Given the description of an element on the screen output the (x, y) to click on. 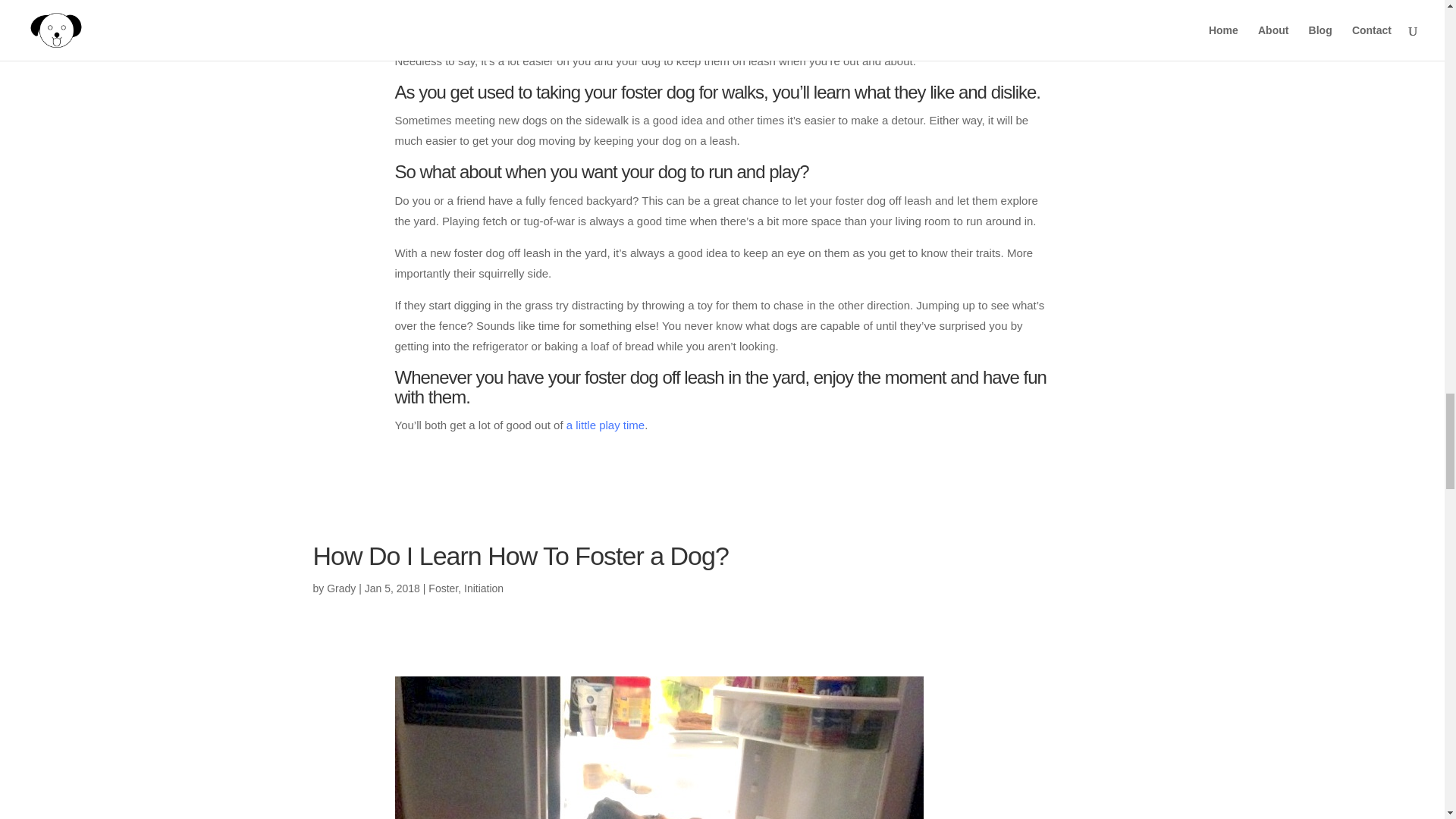
Foster (443, 588)
How Do I Learn How To Foster a Dog? (520, 555)
a little play time (605, 424)
Grady (340, 588)
Posts by Grady (340, 588)
Initiation (483, 588)
